Given the description of an element on the screen output the (x, y) to click on. 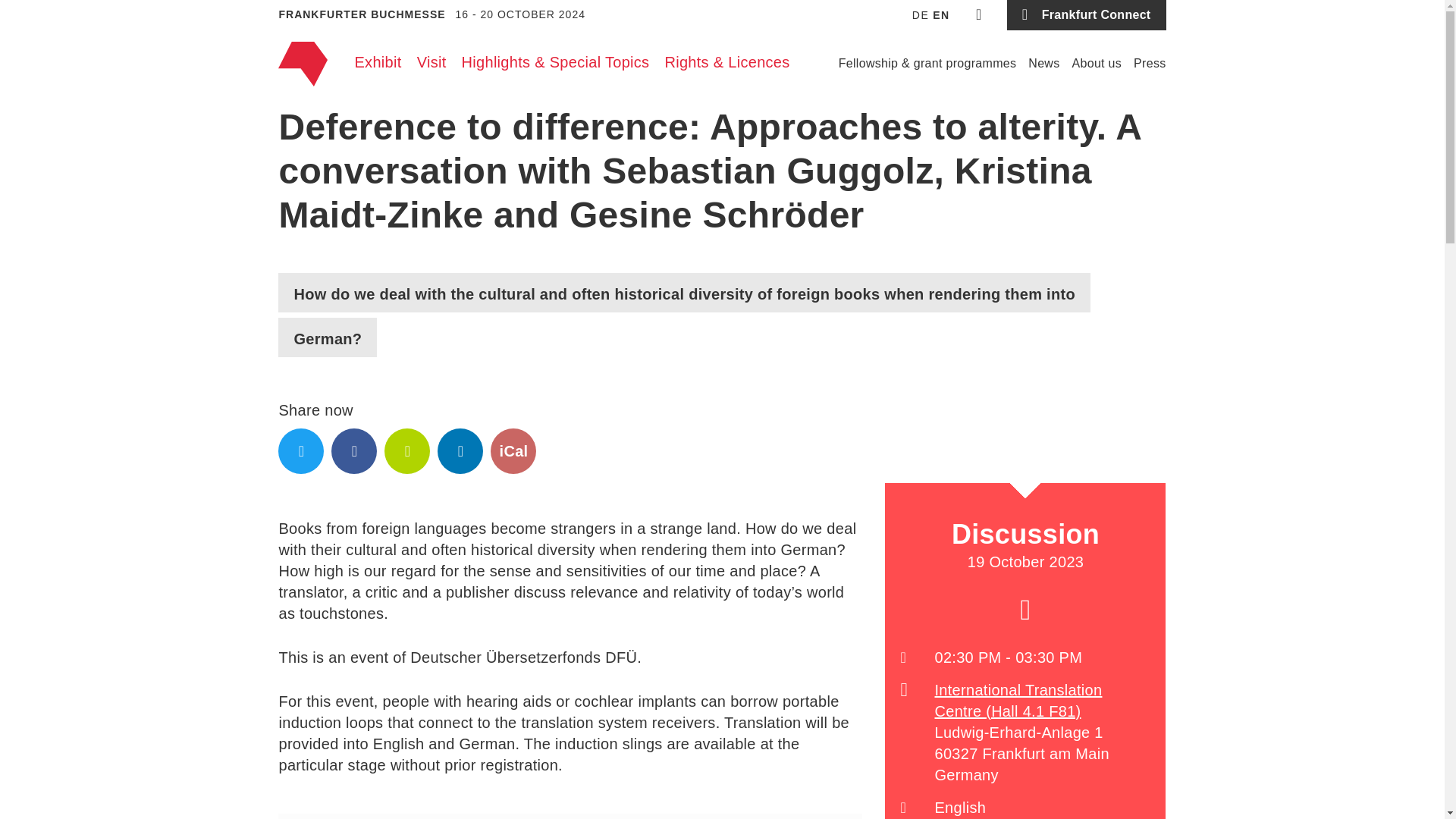
News (1043, 63)
DE (920, 14)
iCal (512, 451)
Twitter (300, 451)
Skip to main content (721, 5)
Search (978, 15)
Xing (406, 451)
Buchmesse (302, 63)
iCal (1024, 609)
Frankfurt Connect (1086, 15)
